Given the description of an element on the screen output the (x, y) to click on. 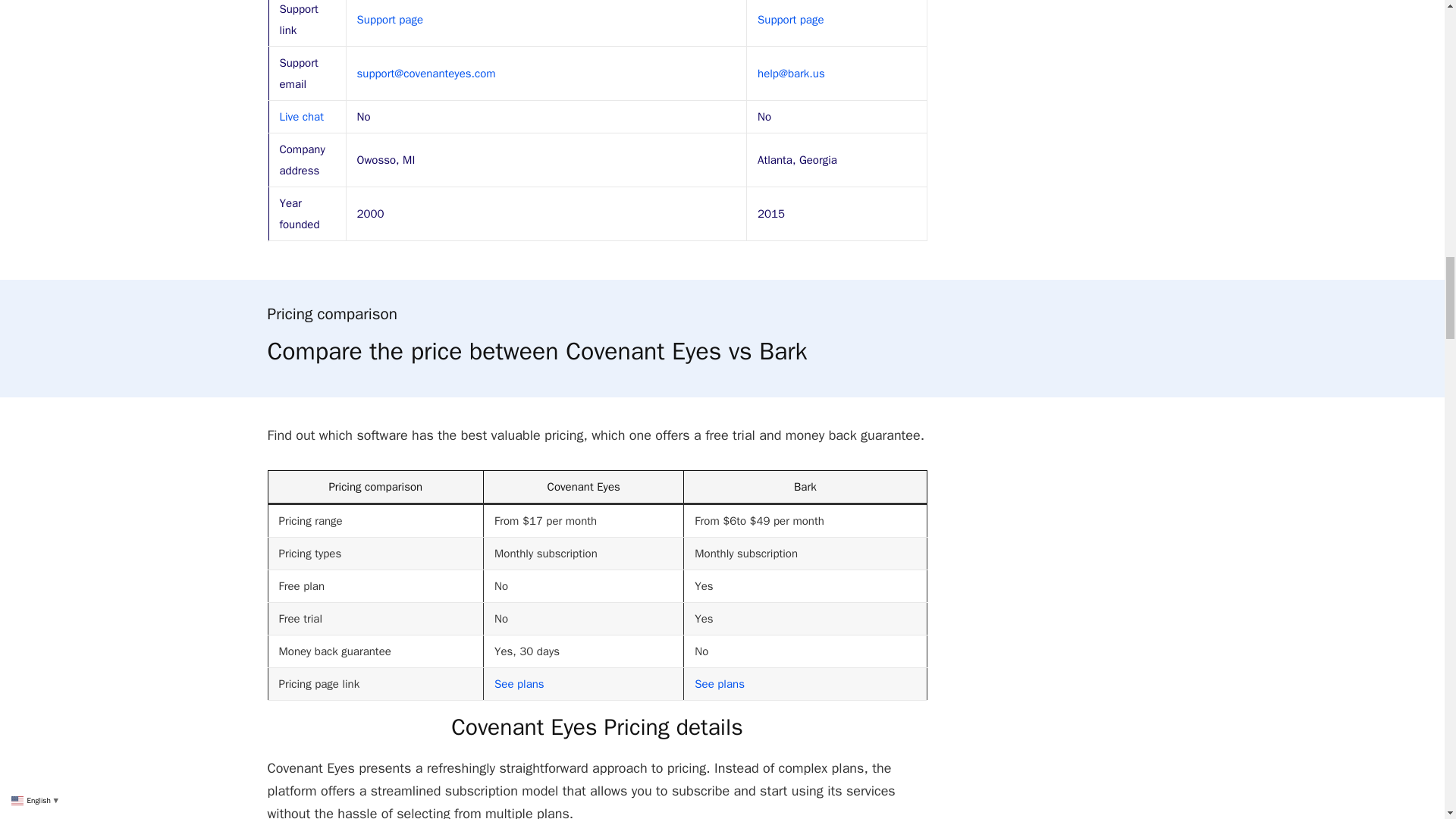
Support page (790, 19)
See plans (719, 684)
Support page (389, 19)
See plans (519, 684)
Live chat (301, 116)
Support page (389, 19)
Support page (790, 19)
